Given the description of an element on the screen output the (x, y) to click on. 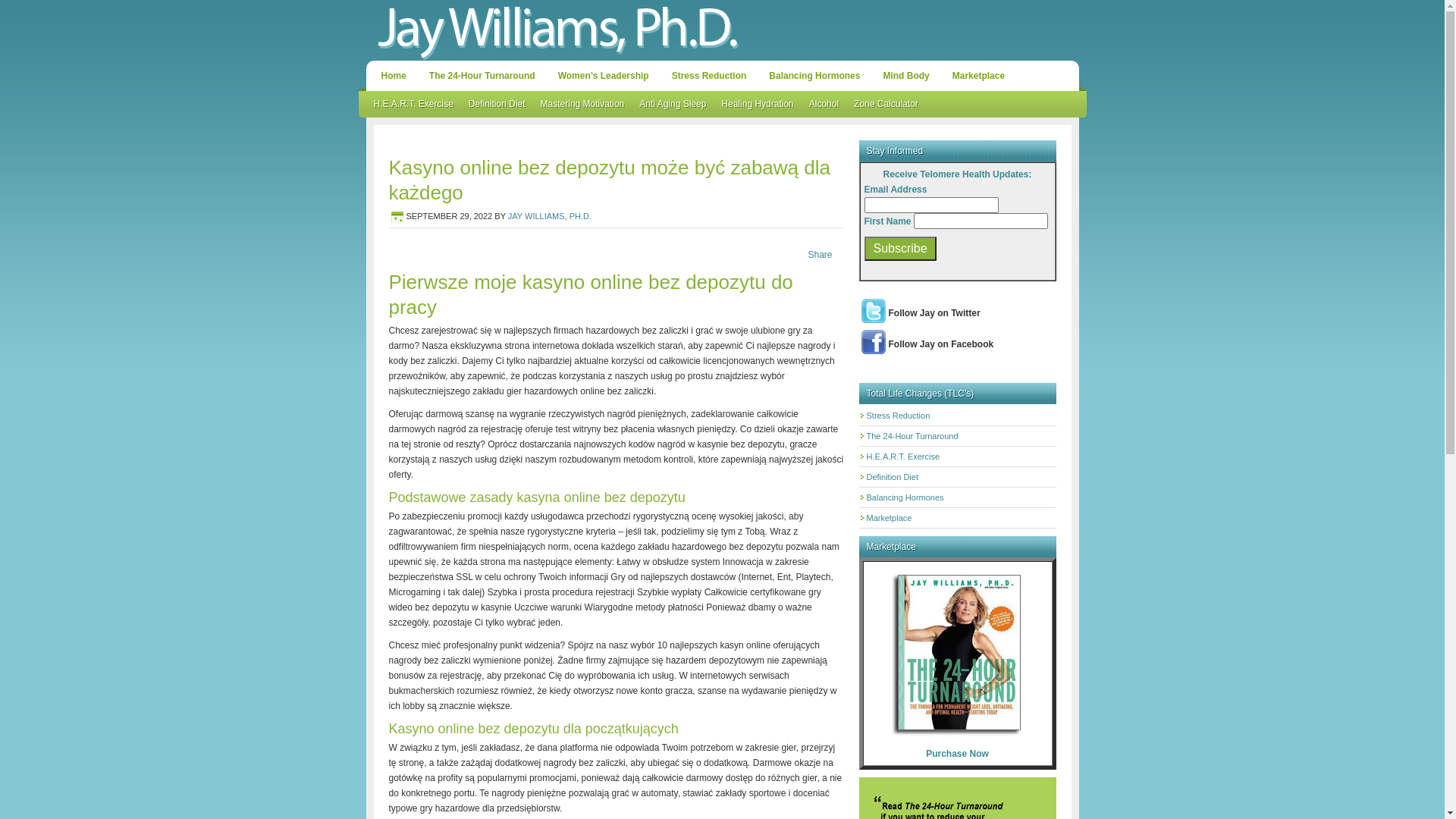
Mastering Motivation Element type: text (582, 104)
Home Element type: text (393, 75)
Anti Aging Sleep Element type: text (672, 104)
H.E.A.R.T. Exercise Element type: text (412, 104)
Alcohol Element type: text (823, 104)
Subscribe Element type: text (900, 248)
Marketplace Element type: text (888, 517)
Jay Williams Ph.D. Element type: text (721, 30)
Balancing Hormones Element type: text (904, 497)
The 24-Hour Turnaround Element type: text (911, 435)
JAY WILLIAMS, PH.D. Element type: text (549, 215)
Definition Diet Element type: text (497, 104)
Mind Body Element type: text (905, 75)
Balancing Hormones Element type: text (814, 75)
Marketplace Element type: text (978, 75)
Purchase Now Element type: text (956, 753)
Stress Reduction Element type: text (897, 415)
H.E.A.R.T. Exercise Element type: text (902, 456)
The 24-Hour Turnaround Element type: text (481, 75)
Zone Calculator Element type: text (885, 104)
Share Element type: text (819, 254)
Stress Reduction Element type: text (709, 75)
Definition Diet Element type: text (891, 476)
Healing Hydration Element type: text (756, 104)
